Given the description of an element on the screen output the (x, y) to click on. 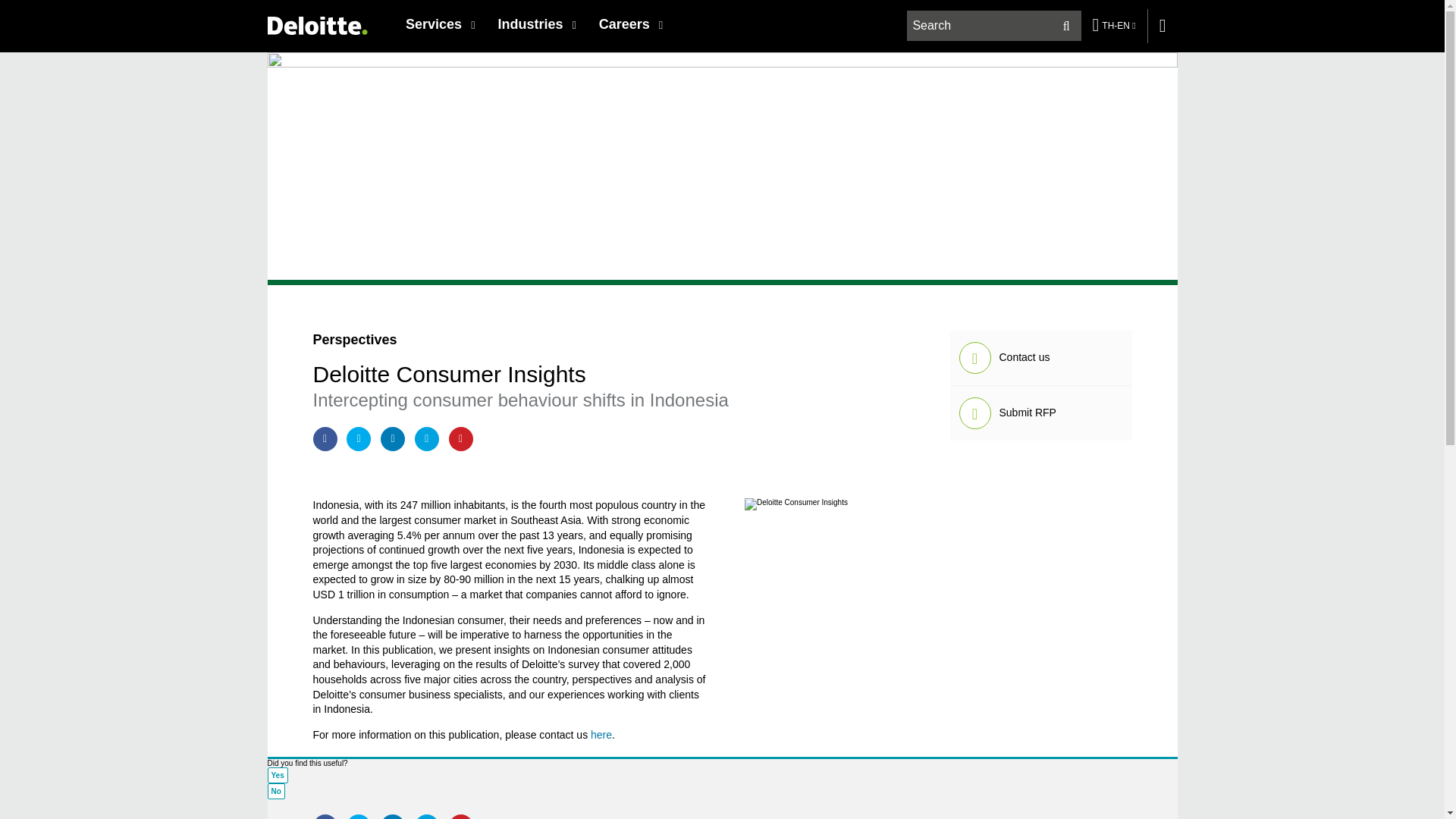
Services (440, 24)
Share via Twitter (358, 438)
Share via Email (426, 816)
Search (1066, 25)
Share via Pinterest (460, 816)
Share via Facebook (324, 816)
search (994, 25)
Share via LinkedIn (392, 438)
Share via LinkedIn (392, 816)
Share via Pinterest (460, 438)
Share via Facebook (324, 438)
Deloitte Thailand (316, 25)
Share via Email (426, 438)
Share via Twitter (358, 816)
